Given the description of an element on the screen output the (x, y) to click on. 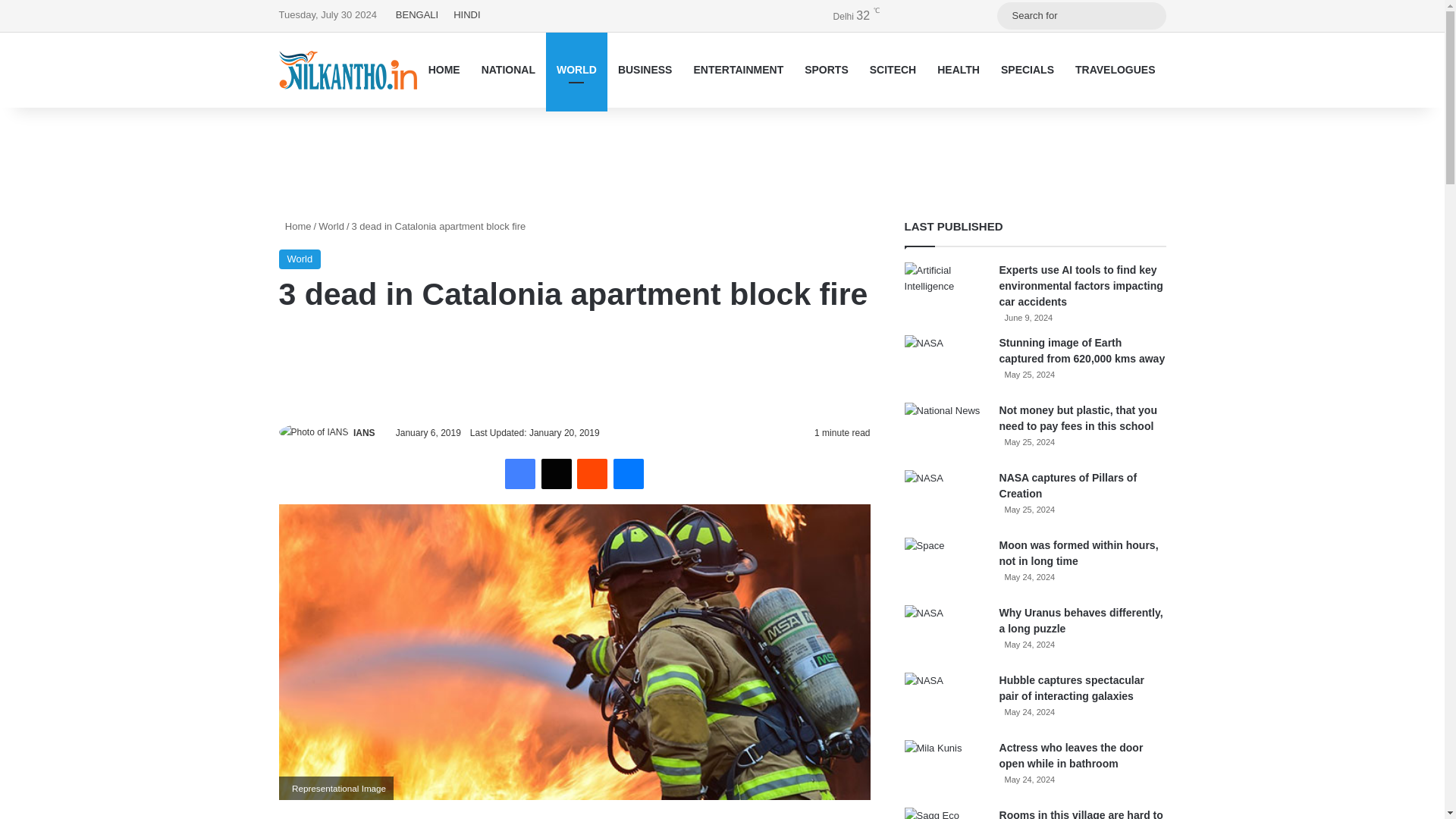
SPECIALS (1027, 69)
Messenger (627, 473)
Reddit (591, 473)
Search for (1080, 15)
BENGALI (416, 15)
HINDI (466, 15)
Messenger (627, 473)
BUSINESS (644, 69)
Home (295, 225)
Reddit (591, 473)
X (556, 473)
Nilkantho News (347, 69)
Facebook (520, 473)
Search for (1150, 15)
SCITECH (892, 69)
